Given the description of an element on the screen output the (x, y) to click on. 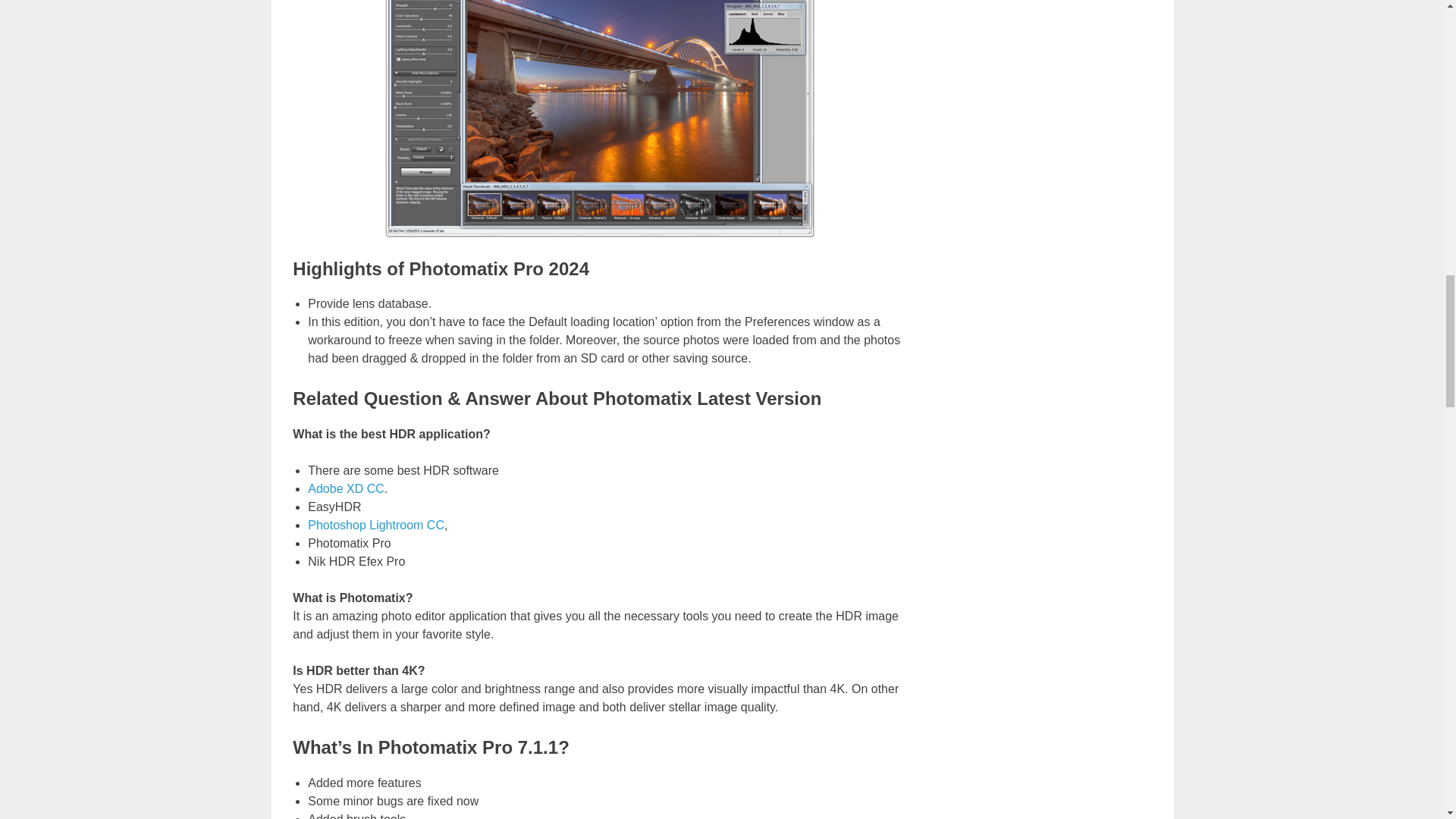
Adobe XD CC (345, 488)
Photoshop Lightroom CC (375, 524)
